Given the description of an element on the screen output the (x, y) to click on. 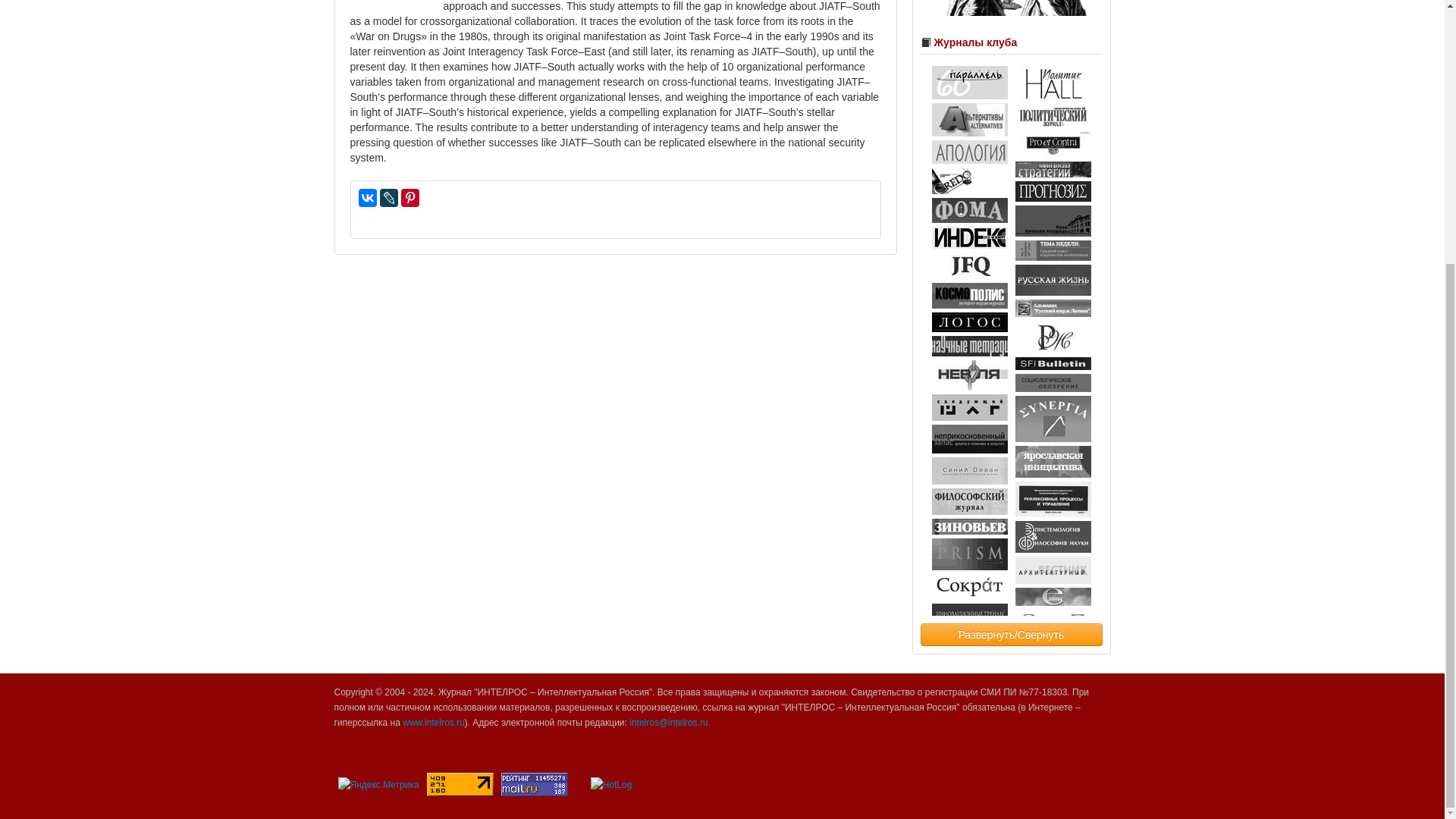
LiveJournal (387, 198)
Pinterest (409, 198)
